Given the description of an element on the screen output the (x, y) to click on. 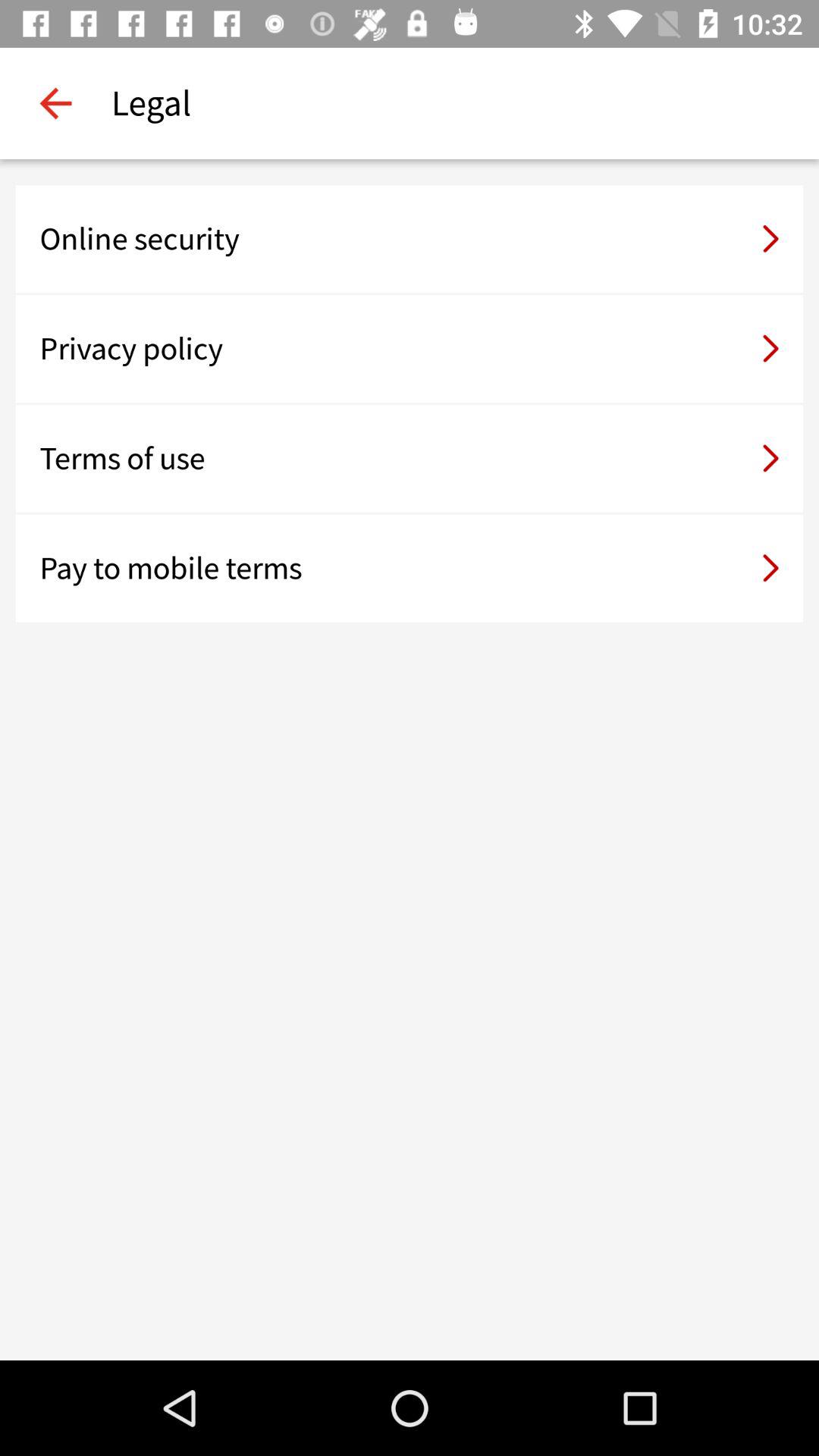
swipe to the online security (409, 238)
